Given the description of an element on the screen output the (x, y) to click on. 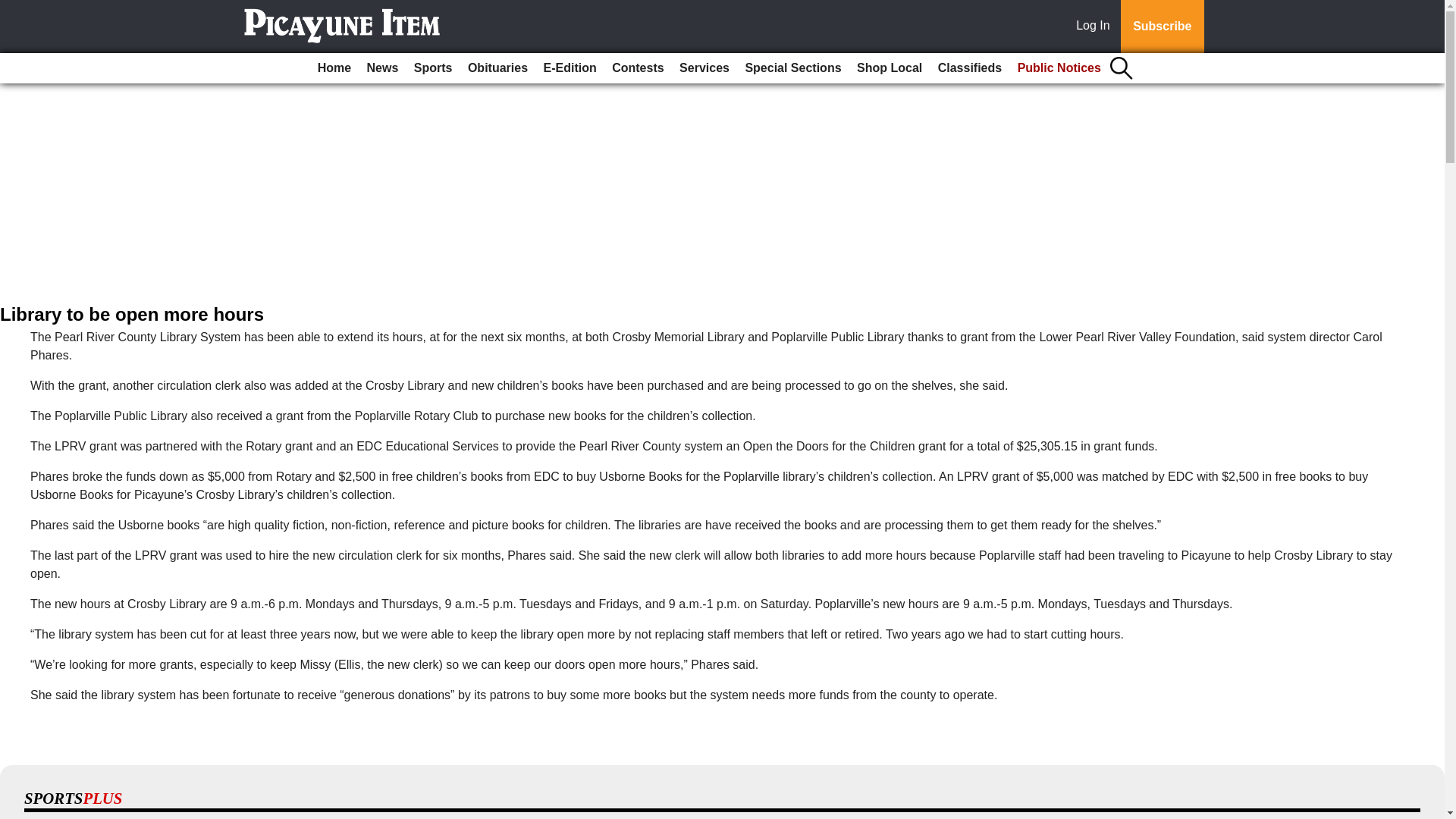
Log In (1095, 26)
Special Sections (792, 68)
Subscribe (1162, 26)
Services (703, 68)
News (382, 68)
E-Edition (569, 68)
Classifieds (969, 68)
Shop Local (889, 68)
Sports (432, 68)
Contests (637, 68)
